Given the description of an element on the screen output the (x, y) to click on. 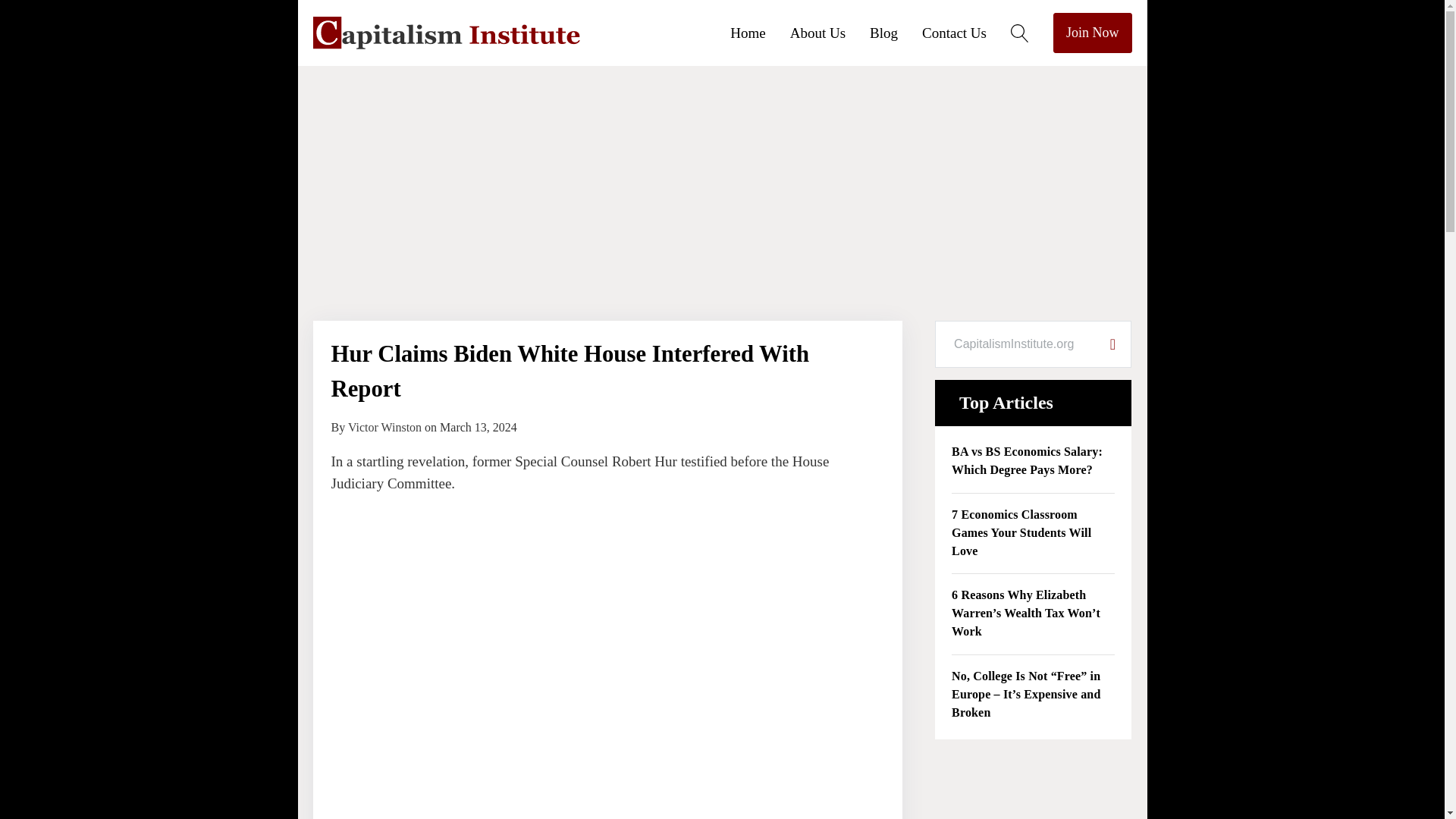
Blog (895, 32)
Search for: (1015, 343)
7 Economics Classroom Games Your Students Will Love (1033, 533)
Contact Us (965, 32)
BA vs BS Economics Salary: Which Degree Pays More? (1033, 461)
About Us (829, 32)
Home (759, 32)
Join Now (1092, 33)
Advertisement (1032, 788)
Victor Winston (384, 427)
